Given the description of an element on the screen output the (x, y) to click on. 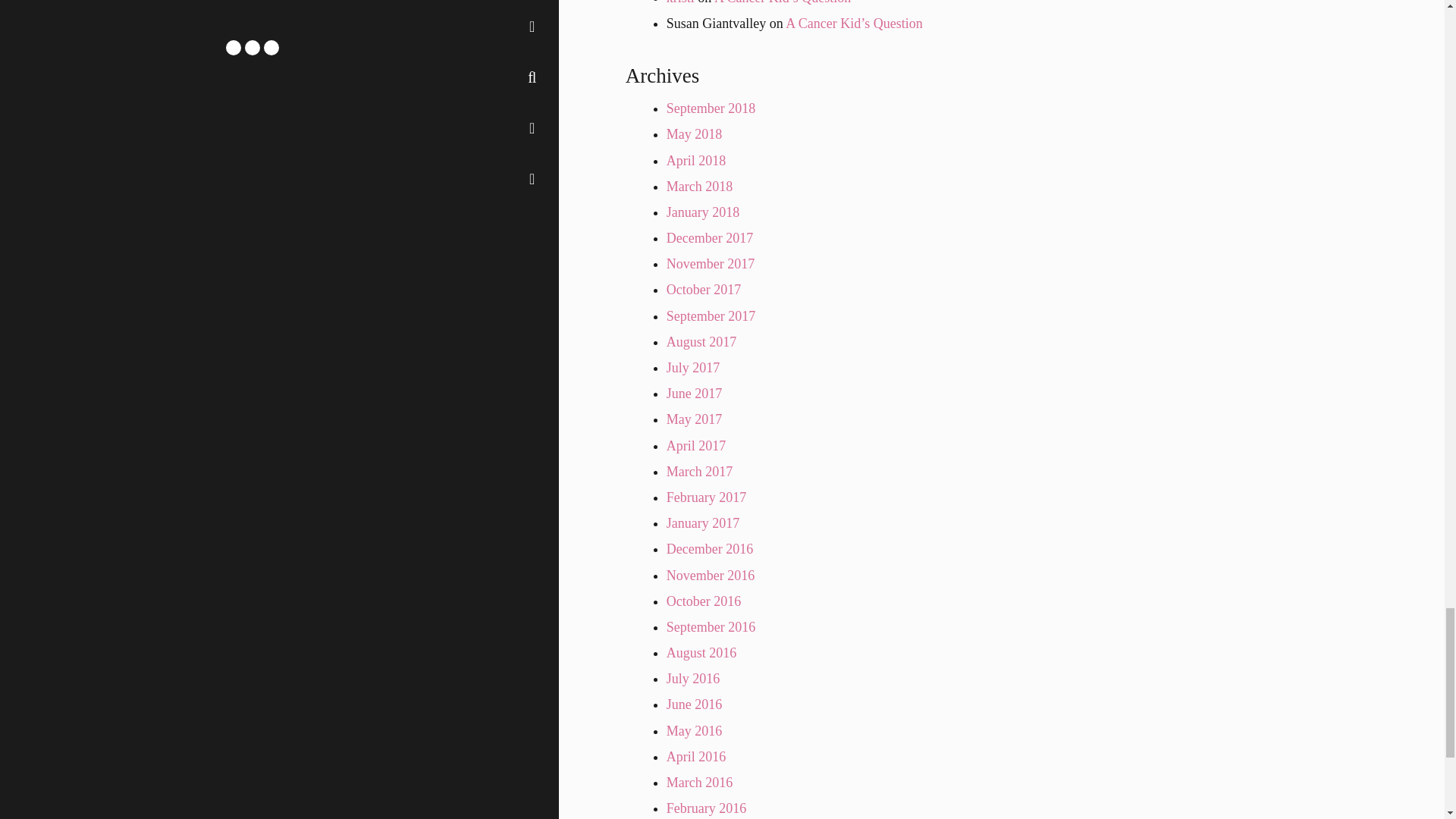
May 2018 (694, 133)
September 2018 (710, 108)
kristi (680, 2)
